Given the description of an element on the screen output the (x, y) to click on. 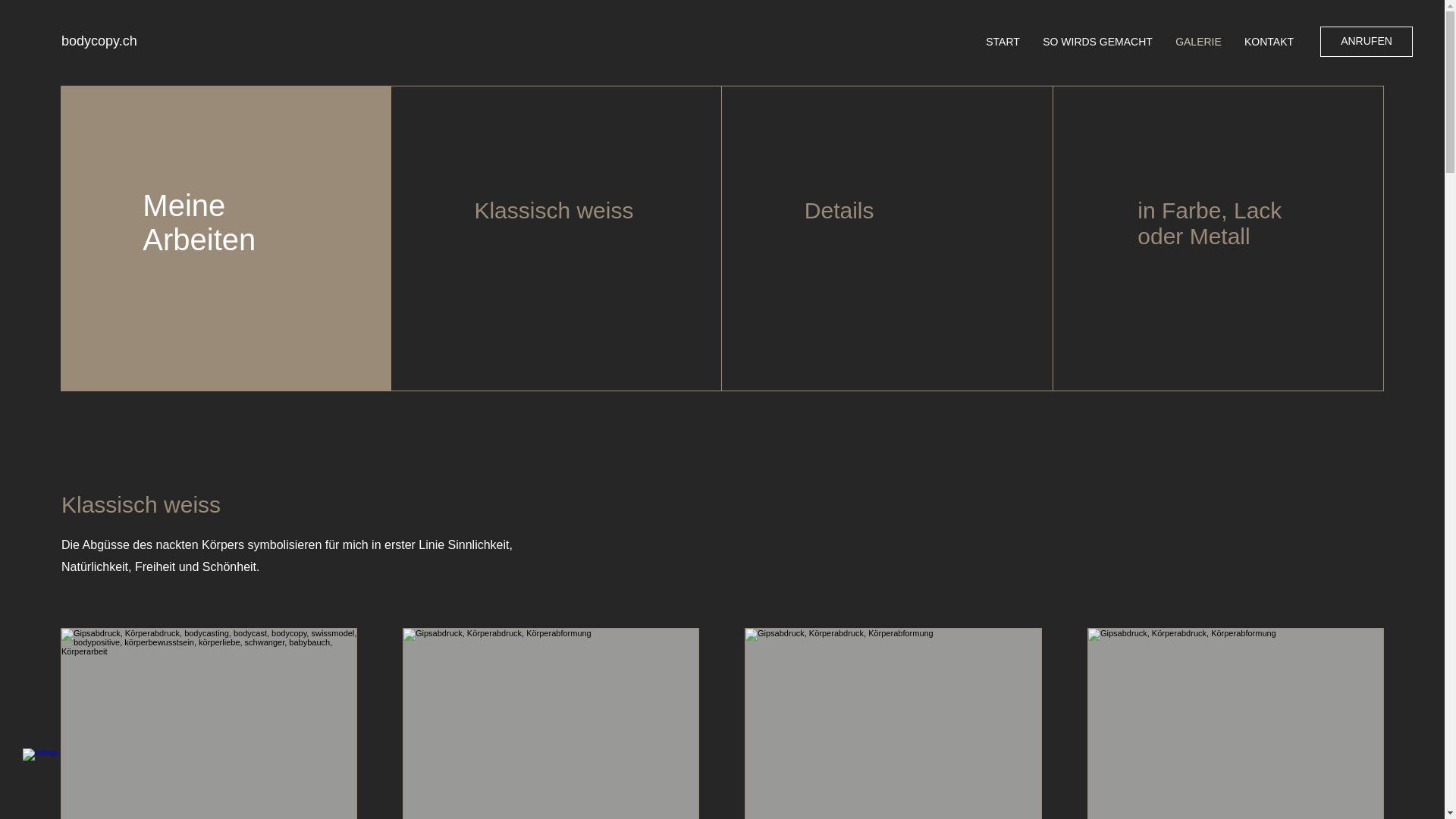
SO WIRDS GEMACHT Element type: text (1097, 41)
Klassisch weiss Element type: text (140, 504)
in Farbe, Lack oder Metall Element type: text (1209, 222)
Klassisch weiss Element type: text (553, 209)
ANRUFEN Element type: text (1366, 41)
bodycopy.ch Element type: text (99, 40)
Details Element type: text (839, 209)
START Element type: text (1002, 41)
GALERIE Element type: text (1198, 41)
KONTAKT Element type: text (1269, 41)
